Given the description of an element on the screen output the (x, y) to click on. 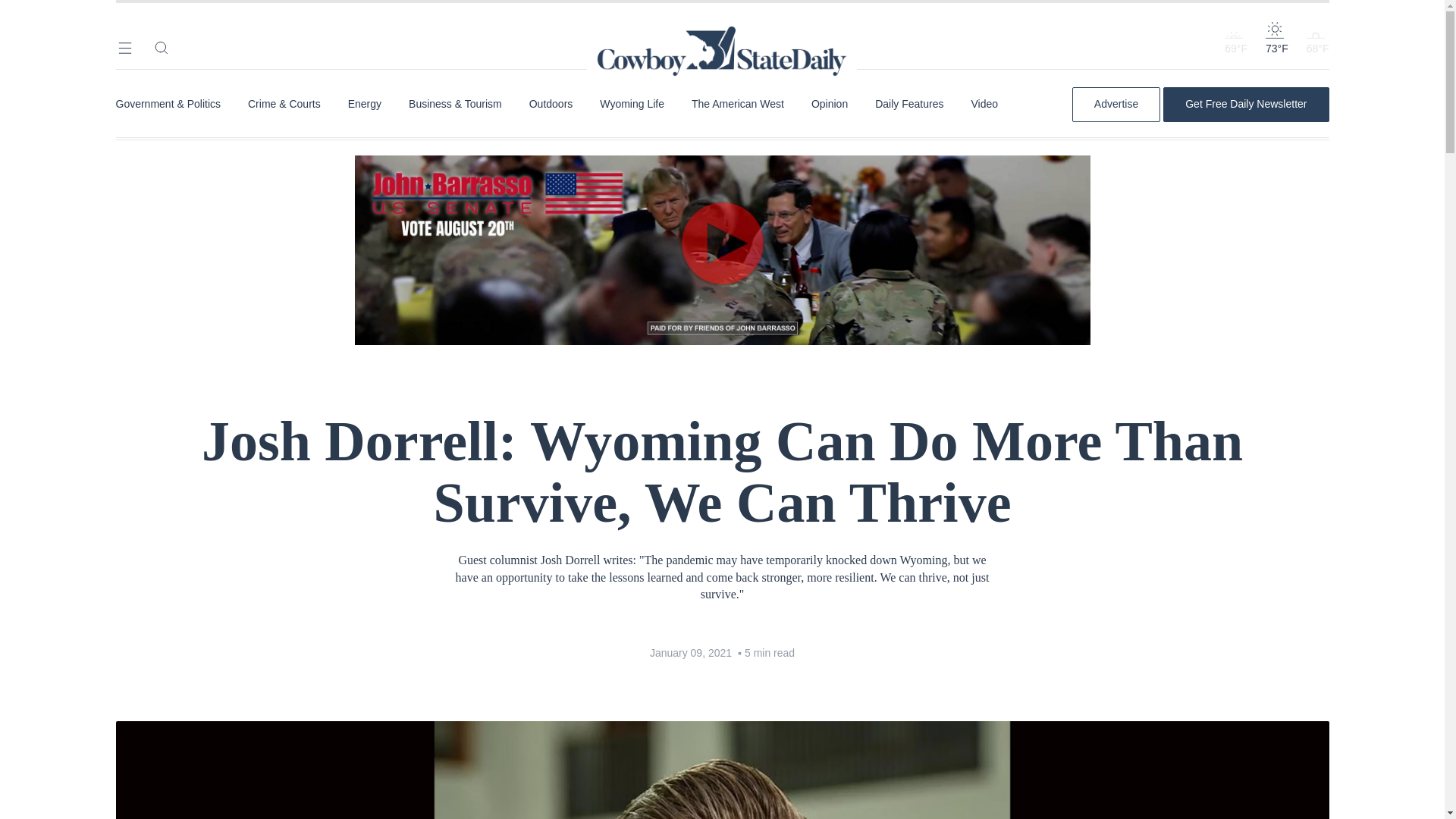
Go to homepage (721, 30)
Menu (124, 47)
Daily Features (909, 104)
The American West (737, 104)
Wyoming Life (631, 104)
Advertise (1115, 104)
Get Free Daily Newsletter (1245, 104)
Search (160, 47)
